Given the description of an element on the screen output the (x, y) to click on. 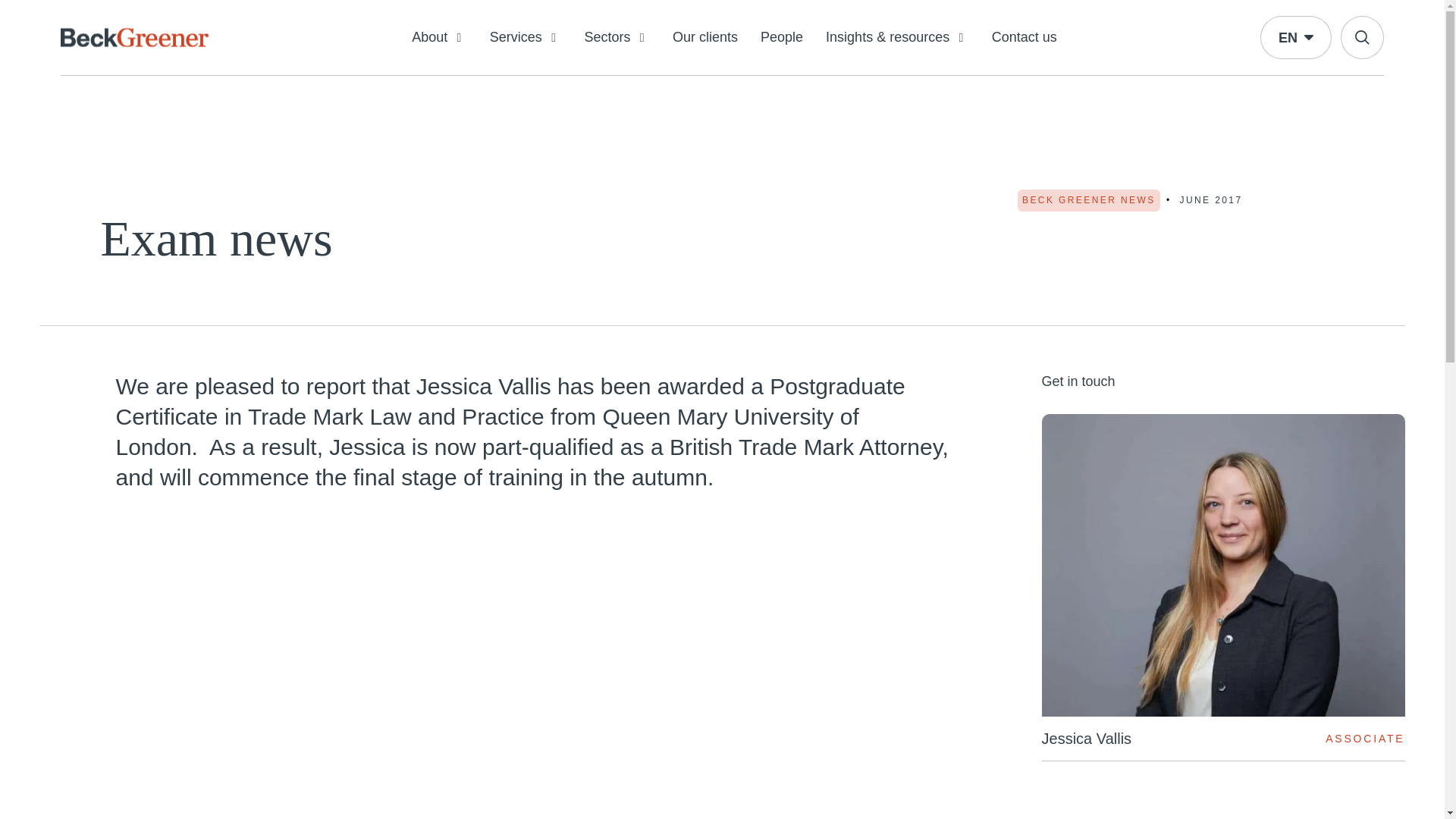
About (439, 37)
Services (526, 37)
